Given the description of an element on the screen output the (x, y) to click on. 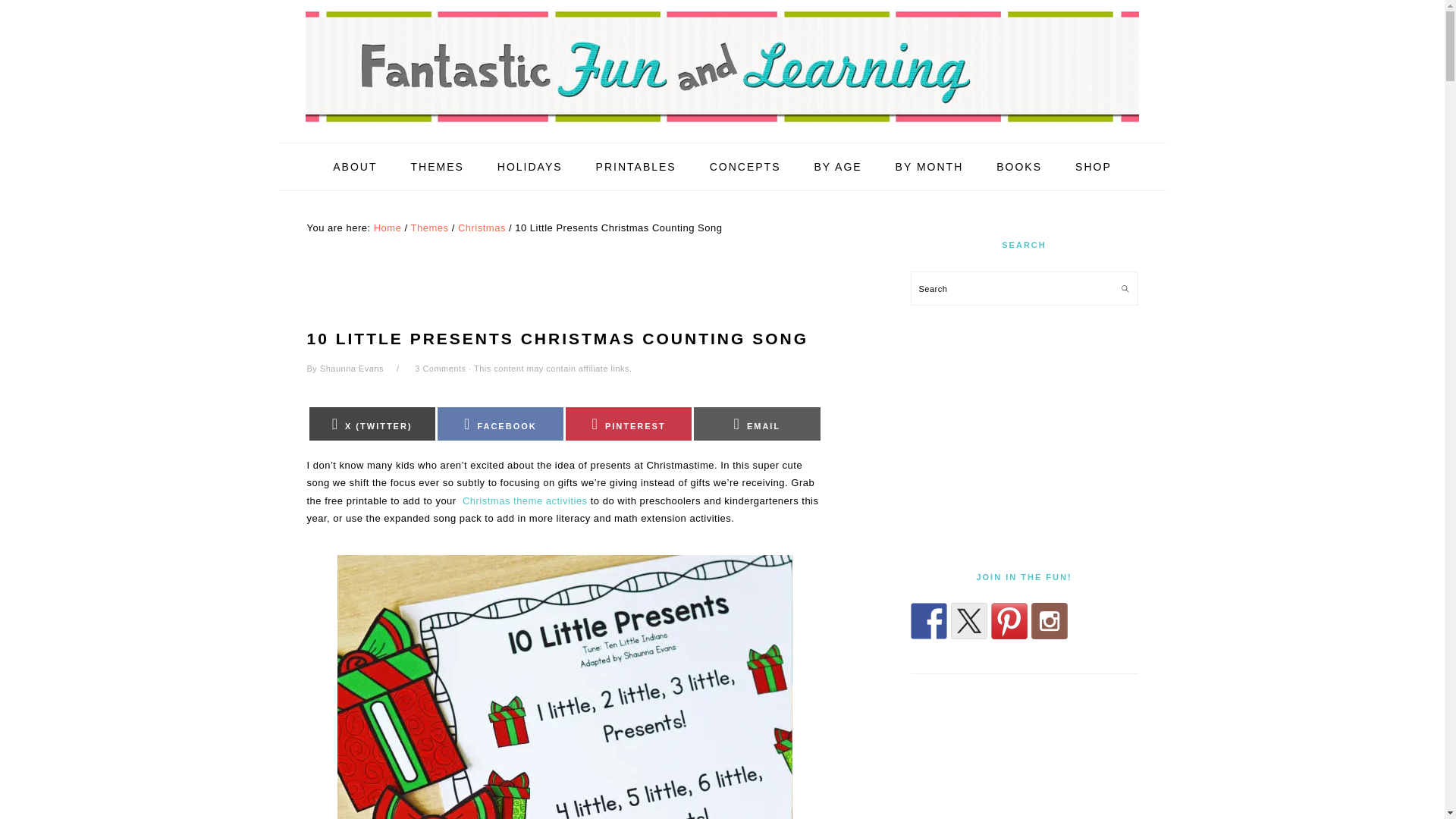
ABOUT (355, 166)
CONCEPTS (745, 166)
Follow us on Facebook (928, 620)
THEMES (436, 166)
Our board on Pinterest (1008, 620)
PRINTABLES (636, 166)
HOLIDAYS (529, 166)
